Given the description of an element on the screen output the (x, y) to click on. 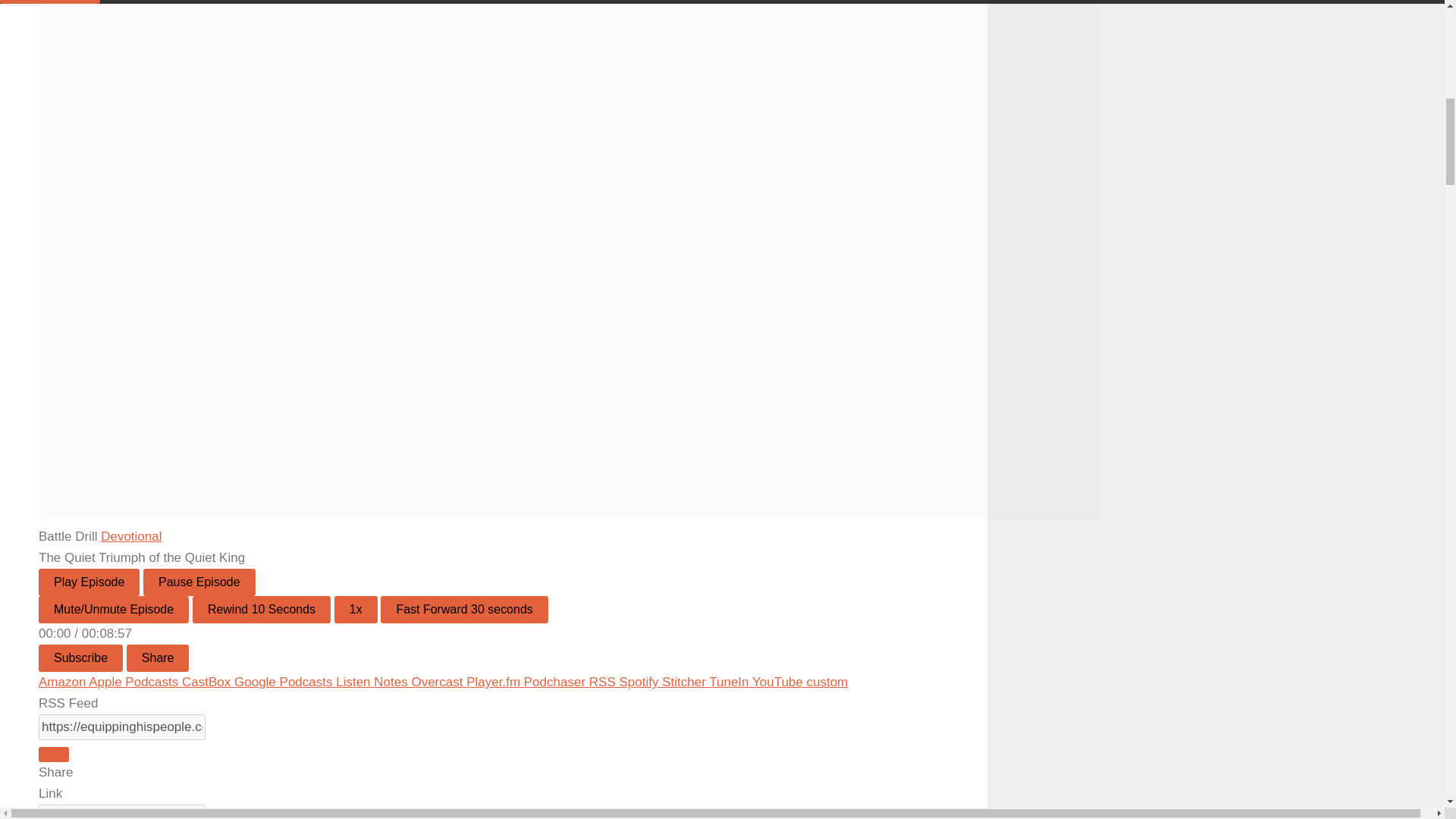
Subscribe (80, 657)
Playback Speed (355, 609)
Play (89, 582)
Share (157, 657)
Subscribe on  Apple Podcasts (135, 681)
Subscribe on  CastBox (208, 681)
Rewind 10 seconds (261, 609)
Pause (199, 582)
SUBSCRIBE (50, 2)
Subscribe on  Amazon (63, 681)
